Given the description of an element on the screen output the (x, y) to click on. 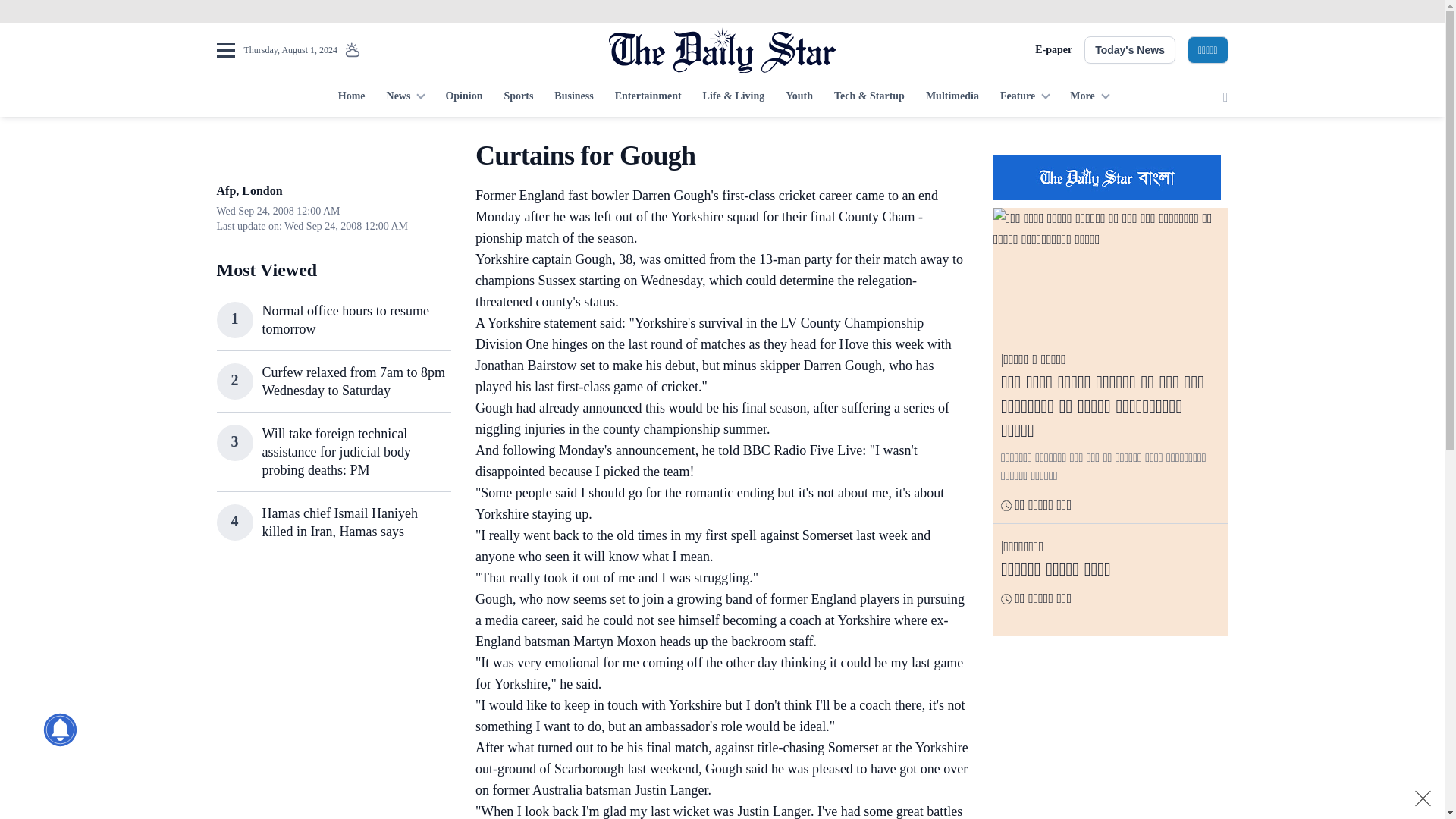
E-paper (1053, 49)
News (405, 96)
Business (573, 96)
Youth (799, 96)
Home (351, 96)
Feature (1024, 96)
Entertainment (647, 96)
Opinion (463, 96)
Sports (518, 96)
Today's News (1129, 49)
Multimedia (952, 96)
